Given the description of an element on the screen output the (x, y) to click on. 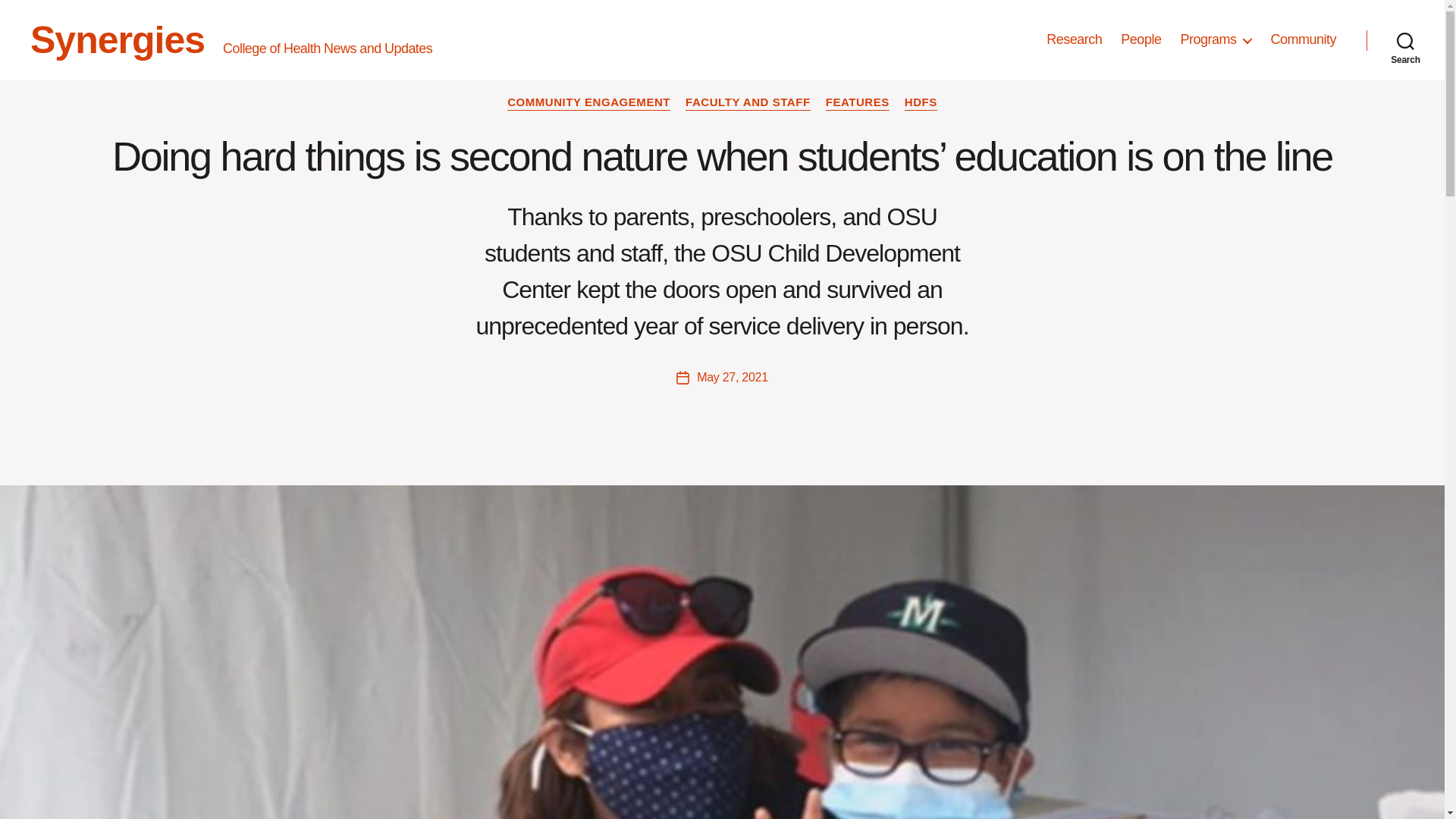
HDFS (920, 102)
COMMUNITY ENGAGEMENT (587, 102)
Research (1074, 39)
FEATURES (857, 102)
Programs (1214, 39)
People (1140, 39)
Community (1302, 39)
May 27, 2021 (732, 377)
Synergies (117, 39)
FACULTY AND STAFF (747, 102)
